Given the description of an element on the screen output the (x, y) to click on. 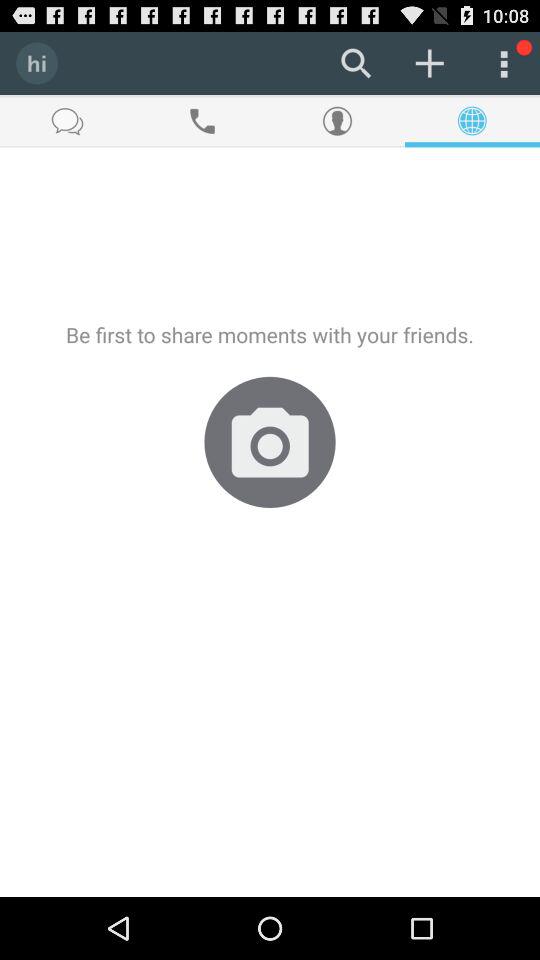
choose item below be first to (269, 441)
